Given the description of an element on the screen output the (x, y) to click on. 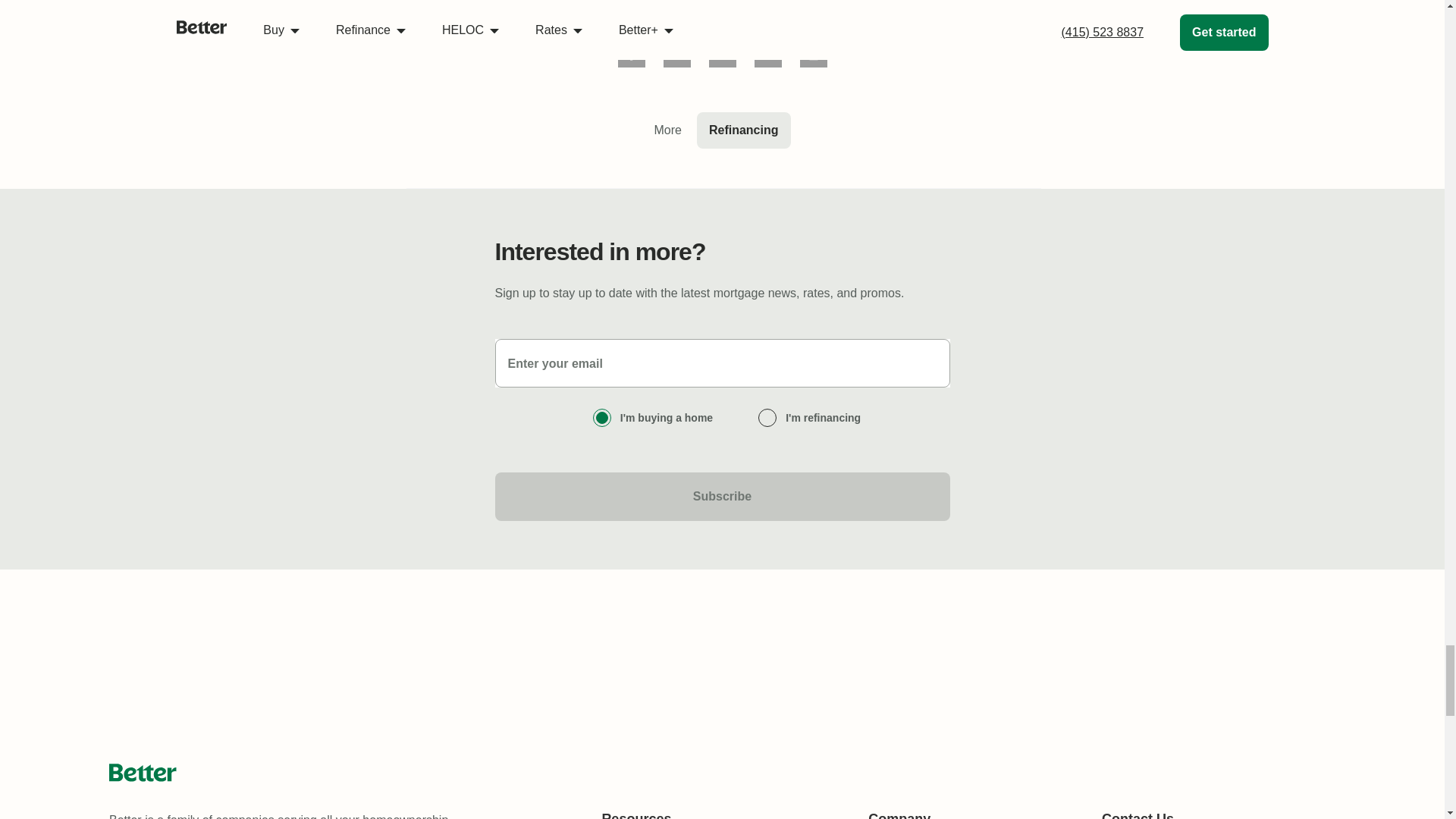
Better (142, 772)
Refinancing (743, 130)
